Given the description of an element on the screen output the (x, y) to click on. 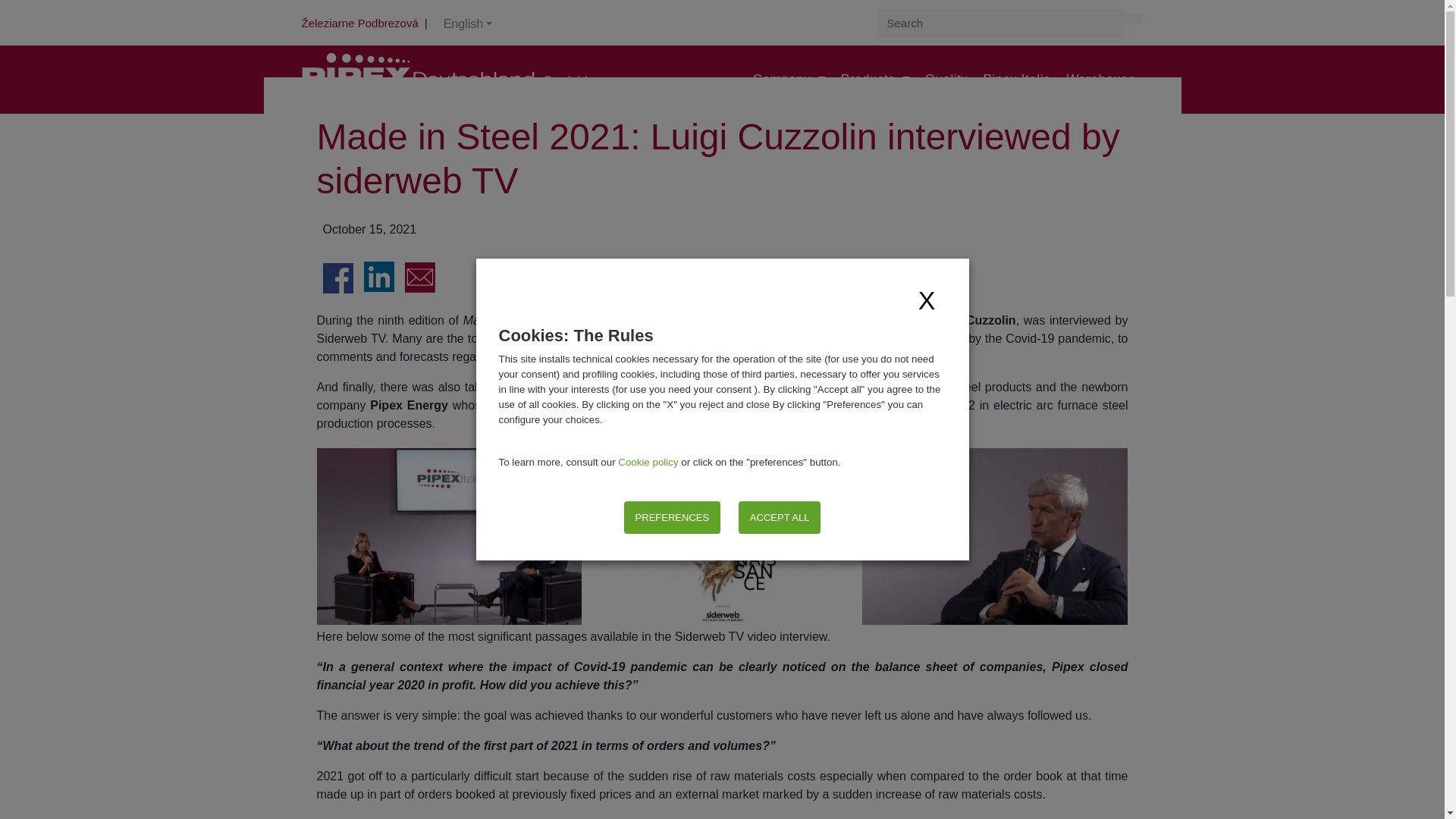
Search (1132, 18)
English (467, 26)
Products (874, 79)
Company (788, 79)
